Given the description of an element on the screen output the (x, y) to click on. 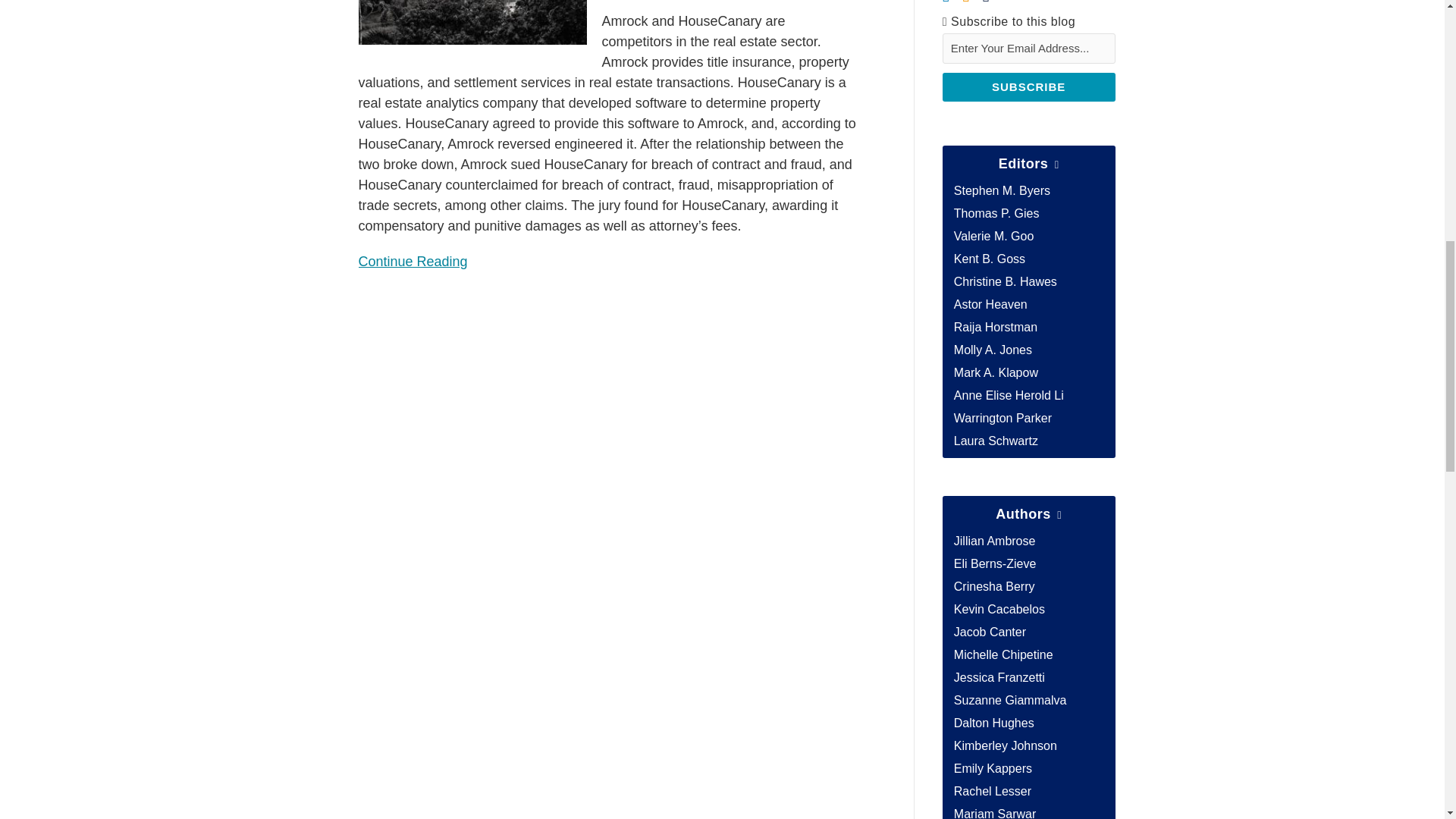
Warrington Parker (1002, 418)
Kent B. Goss (989, 258)
Valerie M. Goo (993, 236)
Astor Heaven (990, 304)
Raija Horstman (994, 327)
Anne Elise Herold Li (1008, 395)
Christine B. Hawes (1005, 281)
Molly A. Jones (992, 349)
LinkedIn (946, 3)
Subscribe (1028, 86)
